Given the description of an element on the screen output the (x, y) to click on. 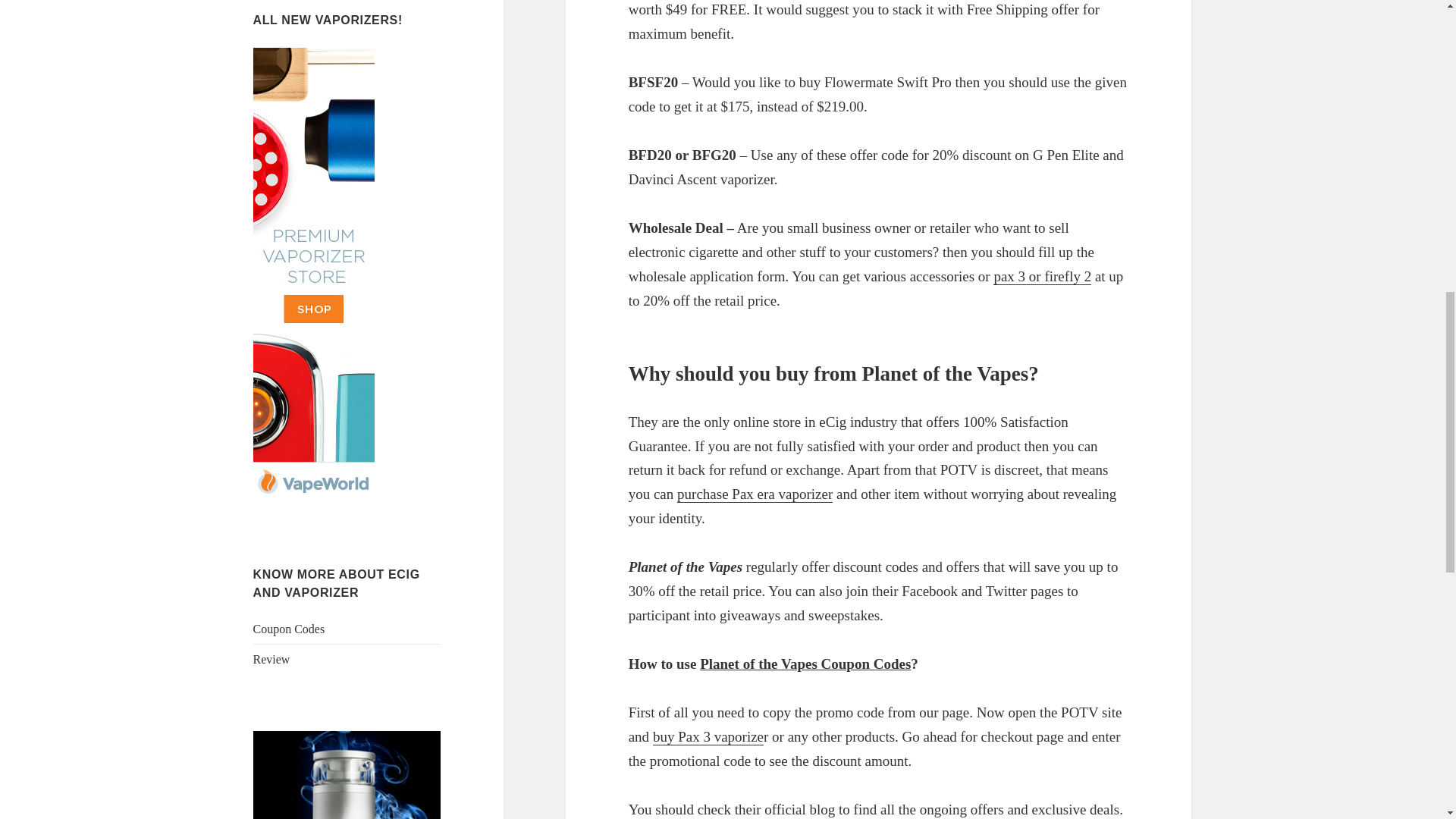
pax 3 or firefly 2 (1041, 276)
product review (271, 658)
Coupon Codes (288, 628)
Review (271, 658)
purchase Pax era vaporizer (754, 494)
buy Pax 3 vaporize (707, 736)
